Given the description of an element on the screen output the (x, y) to click on. 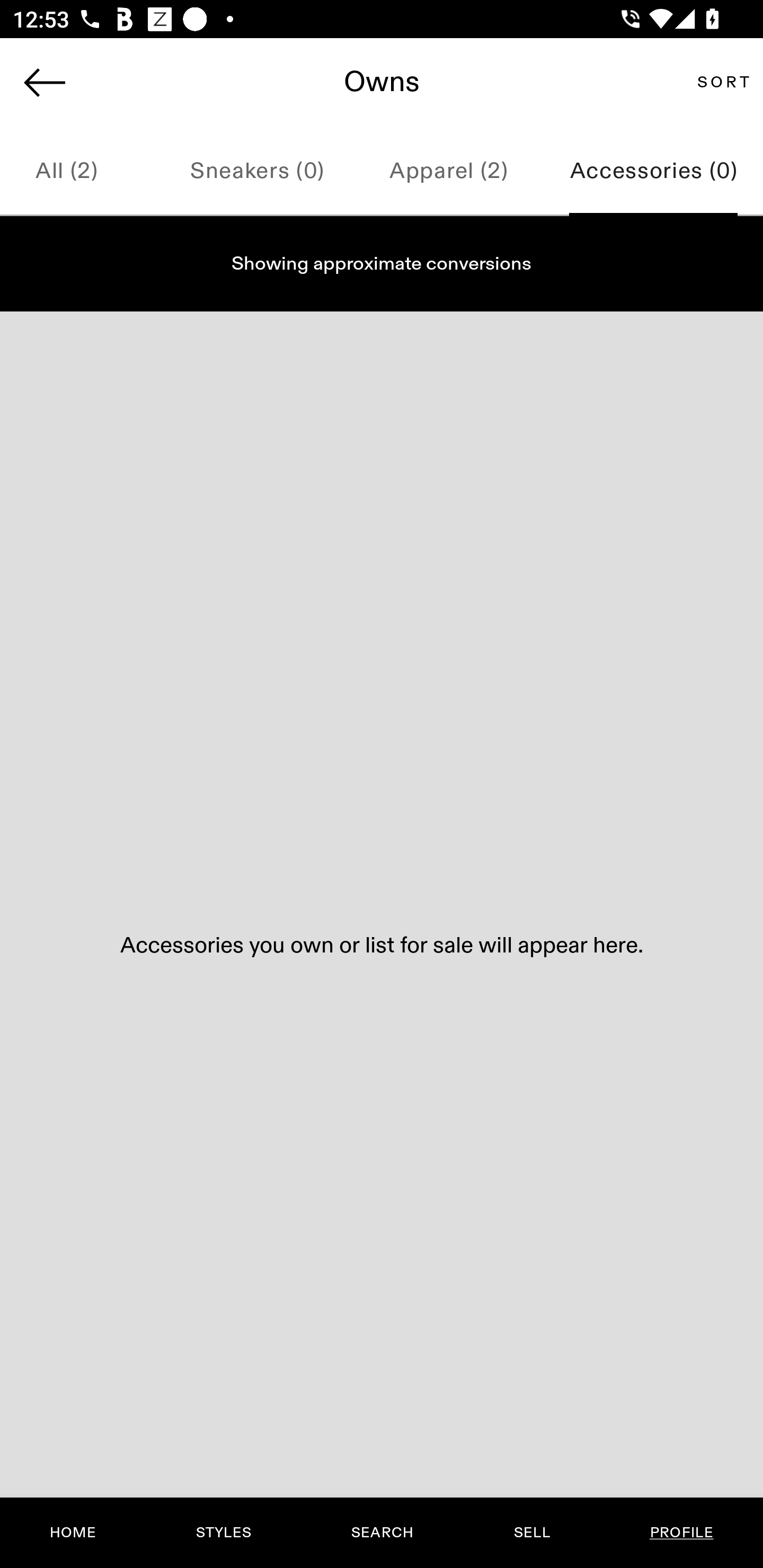
SORT (722, 81)
All (2) (80, 171)
Sneakers (0) (256, 171)
Apparel (2) (447, 171)
HOME (72, 1532)
STYLES (222, 1532)
SEARCH (381, 1532)
SELL (531, 1532)
PROFILE (681, 1532)
